Given the description of an element on the screen output the (x, y) to click on. 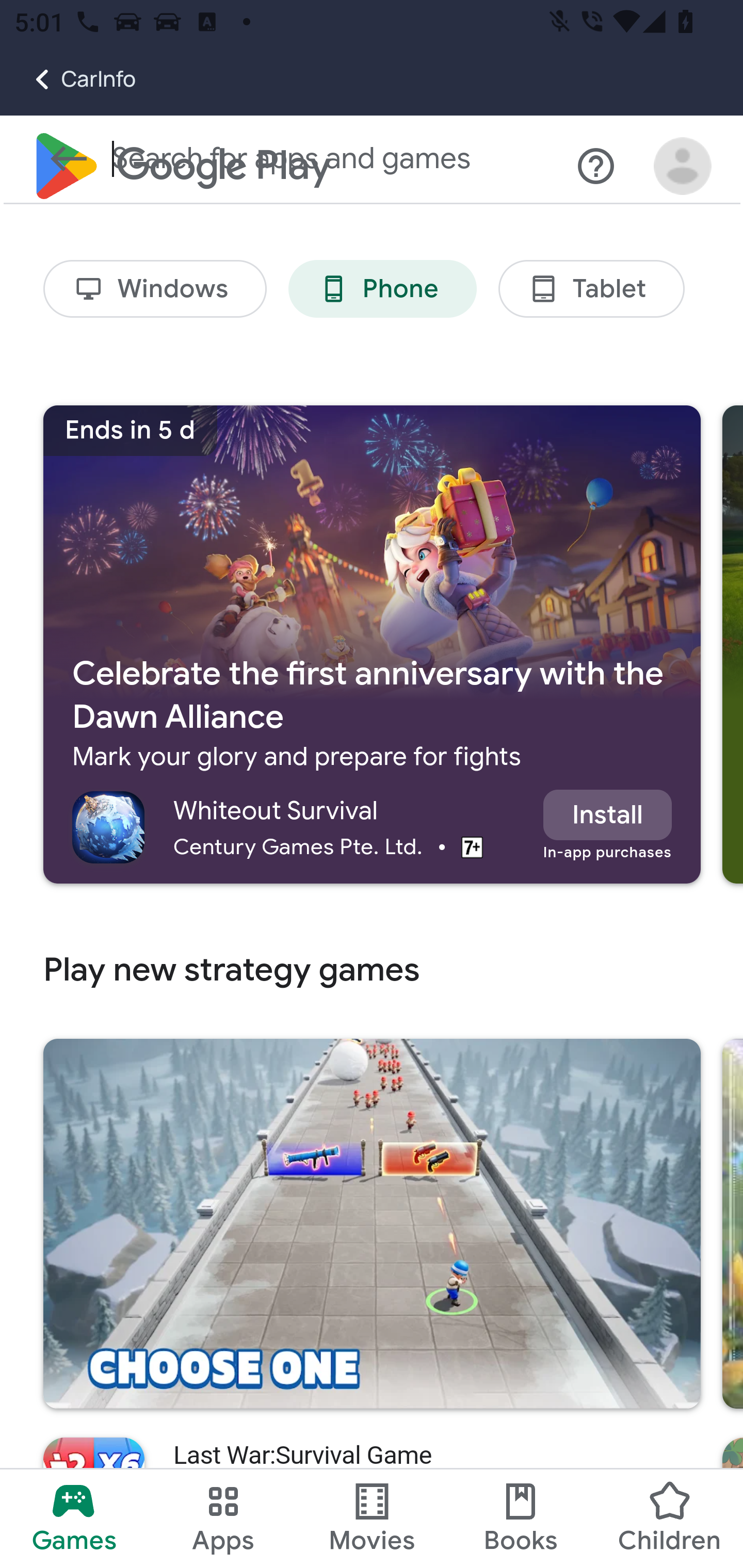
CarInfo (67, 79)
Google Play logo (180, 166)
Help centre (596, 166)
Open account menu (682, 166)
Windows (155, 289)
Phone (381, 289)
Tablet (591, 289)
Install (607, 815)
Games (74, 1518)
Apps (222, 1518)
Movies (372, 1518)
Books (520, 1518)
Children (668, 1518)
